Given the description of an element on the screen output the (x, y) to click on. 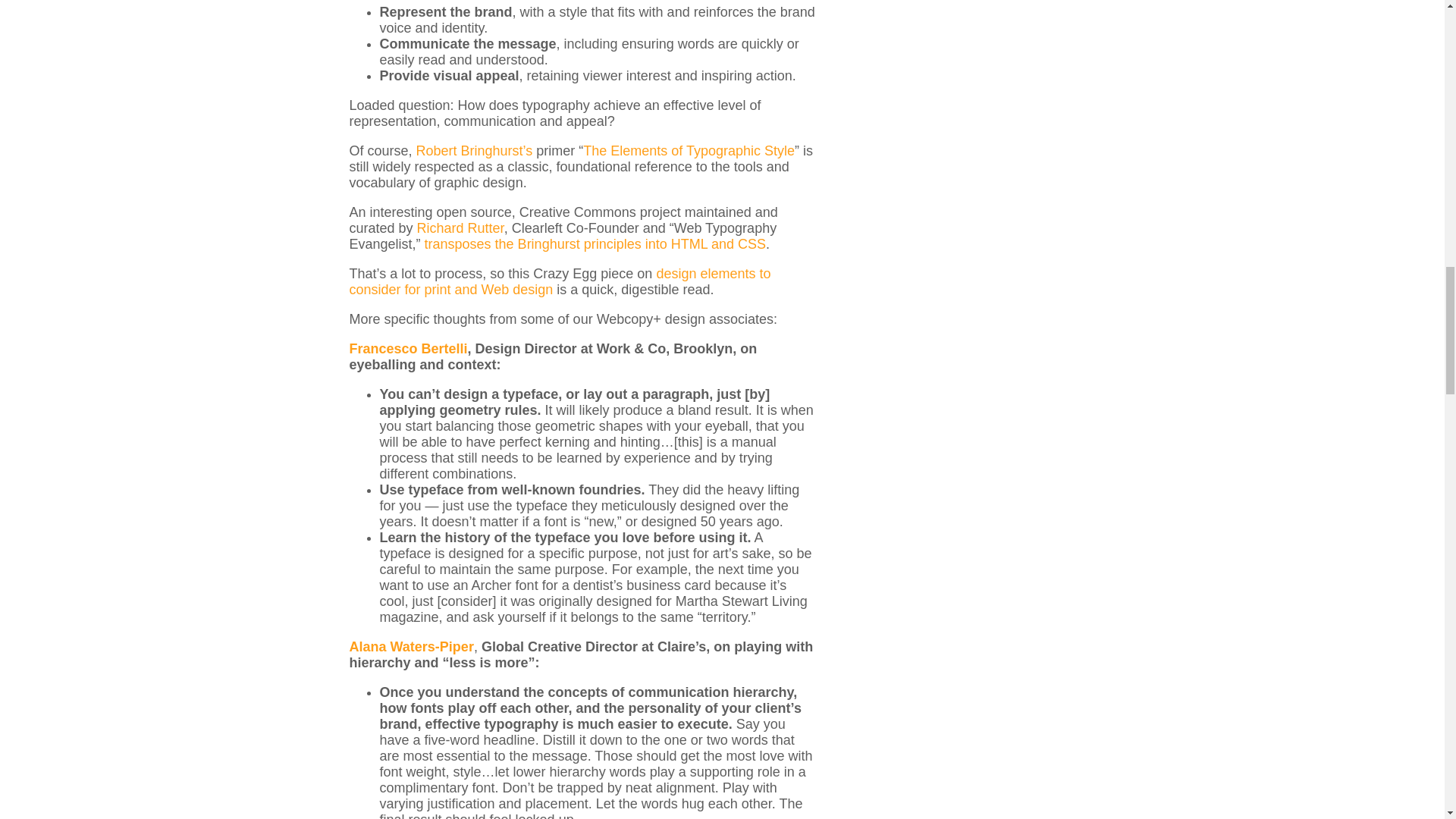
Alana Waters-Piper (411, 646)
Richard Rutter (459, 227)
transposes the Bringhurst principles into HTML and CSS (596, 243)
design elements to consider for print and Web design (559, 281)
The Elements of Typographic Style (688, 150)
Francesco Bertelli (408, 348)
